Given the description of an element on the screen output the (x, y) to click on. 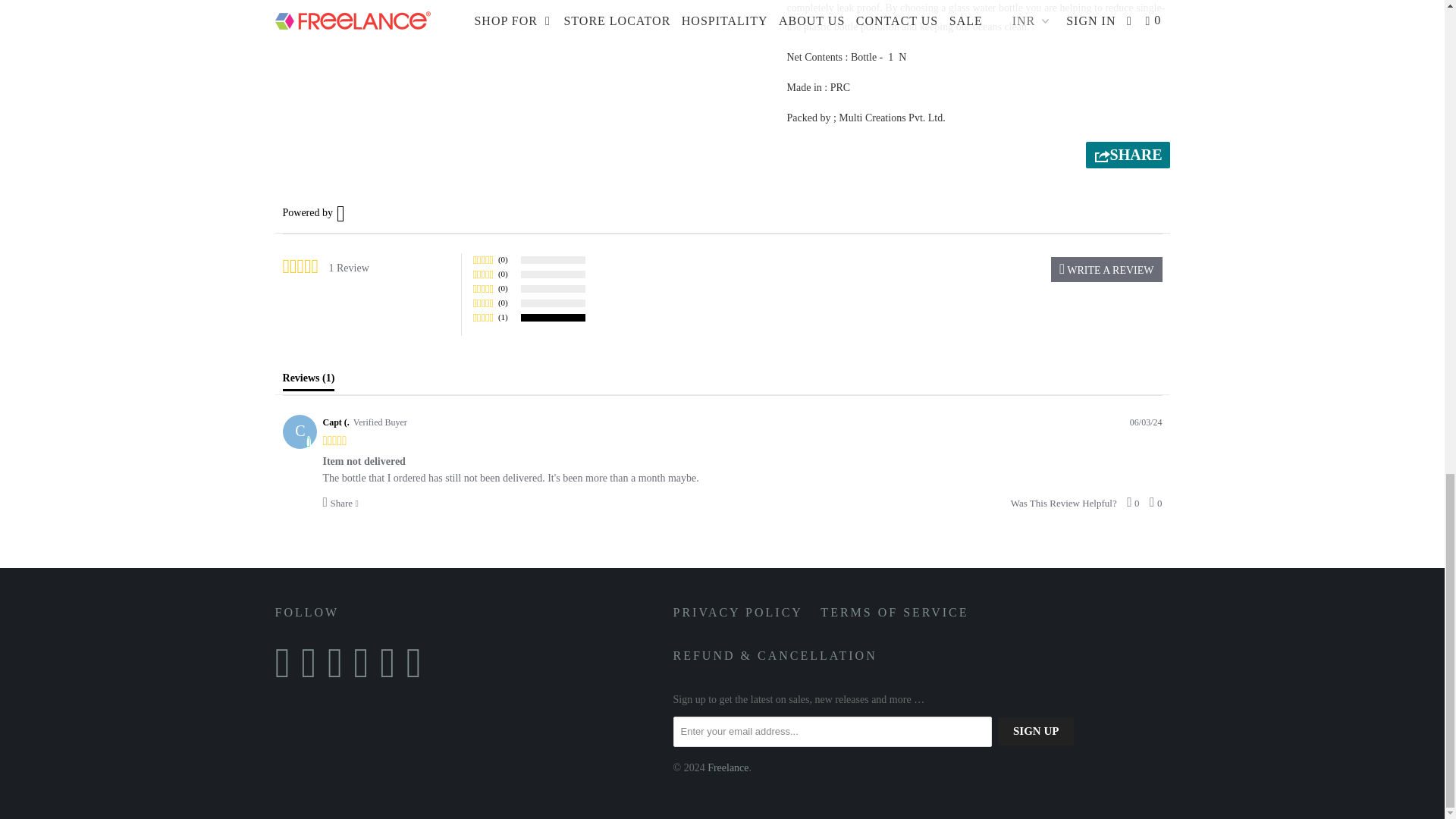
Sign Up (1035, 731)
